Given the description of an element on the screen output the (x, y) to click on. 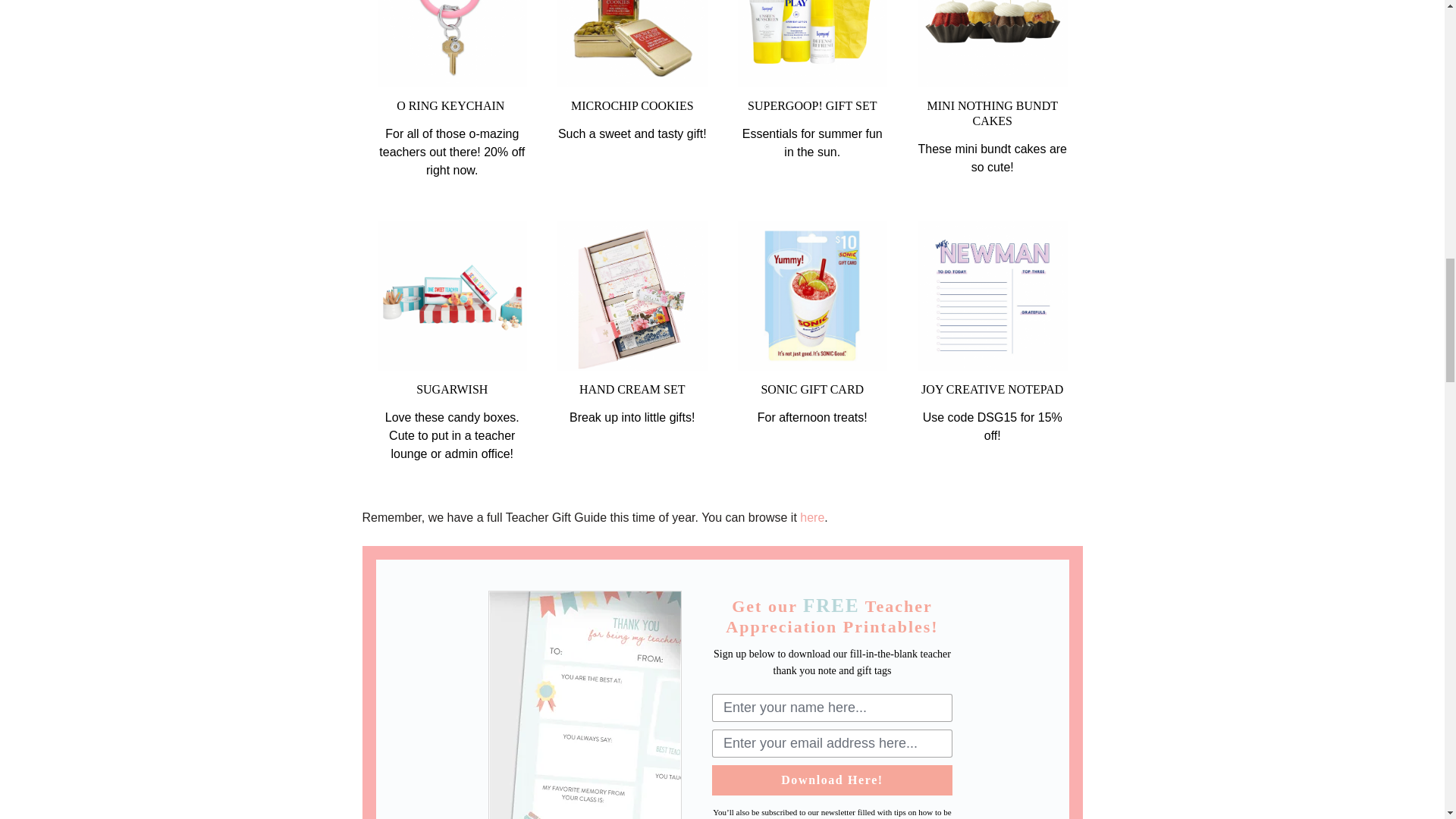
Download Here! (831, 779)
